Given the description of an element on the screen output the (x, y) to click on. 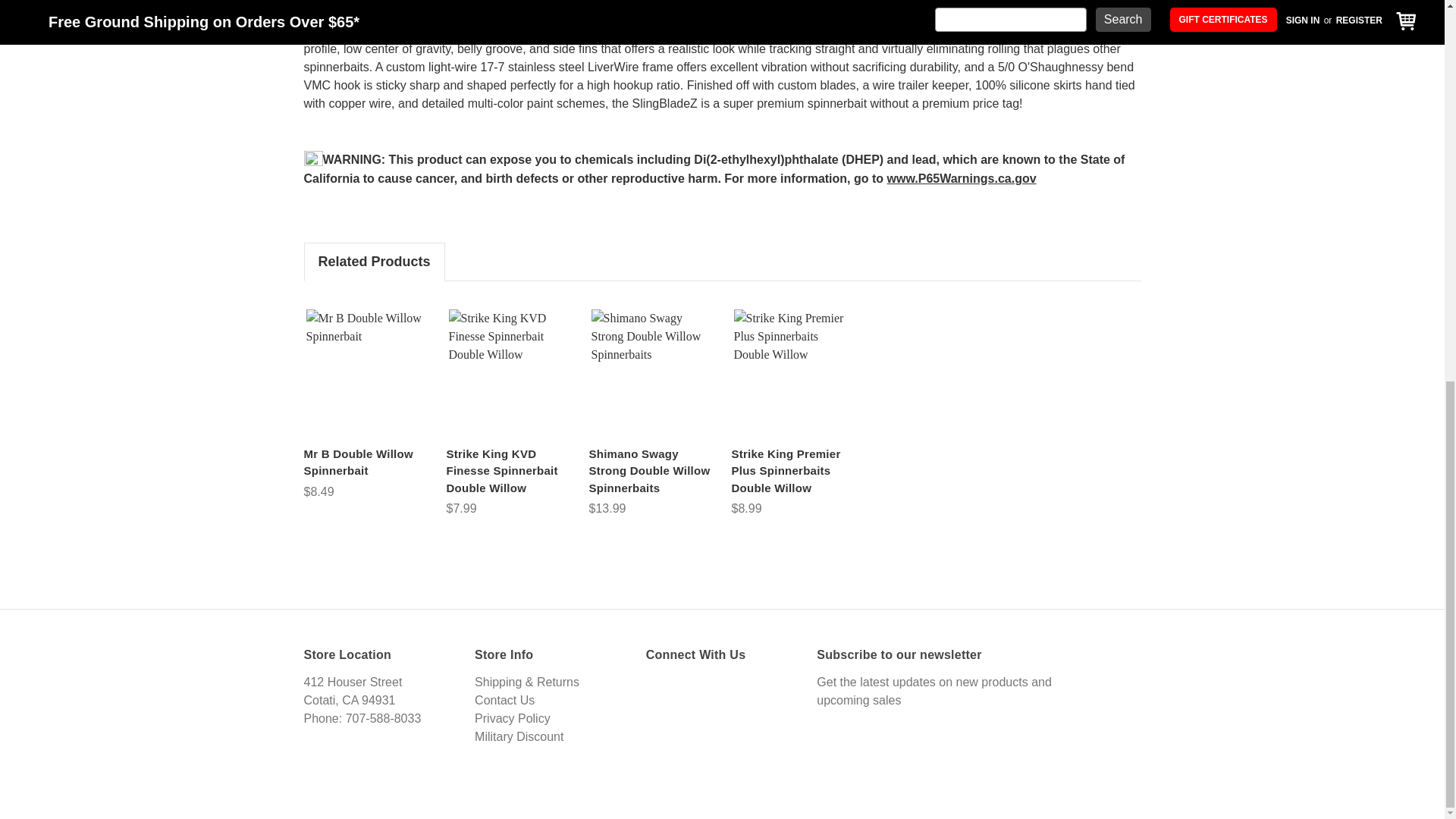
Shimano Swagy Strong Double Willow Spinnerbaits (651, 373)
Strike King KVD Finesse Spinnerbait Double Willow (508, 373)
Mr B Double Willow Spinnerbait (365, 373)
